Given the description of an element on the screen output the (x, y) to click on. 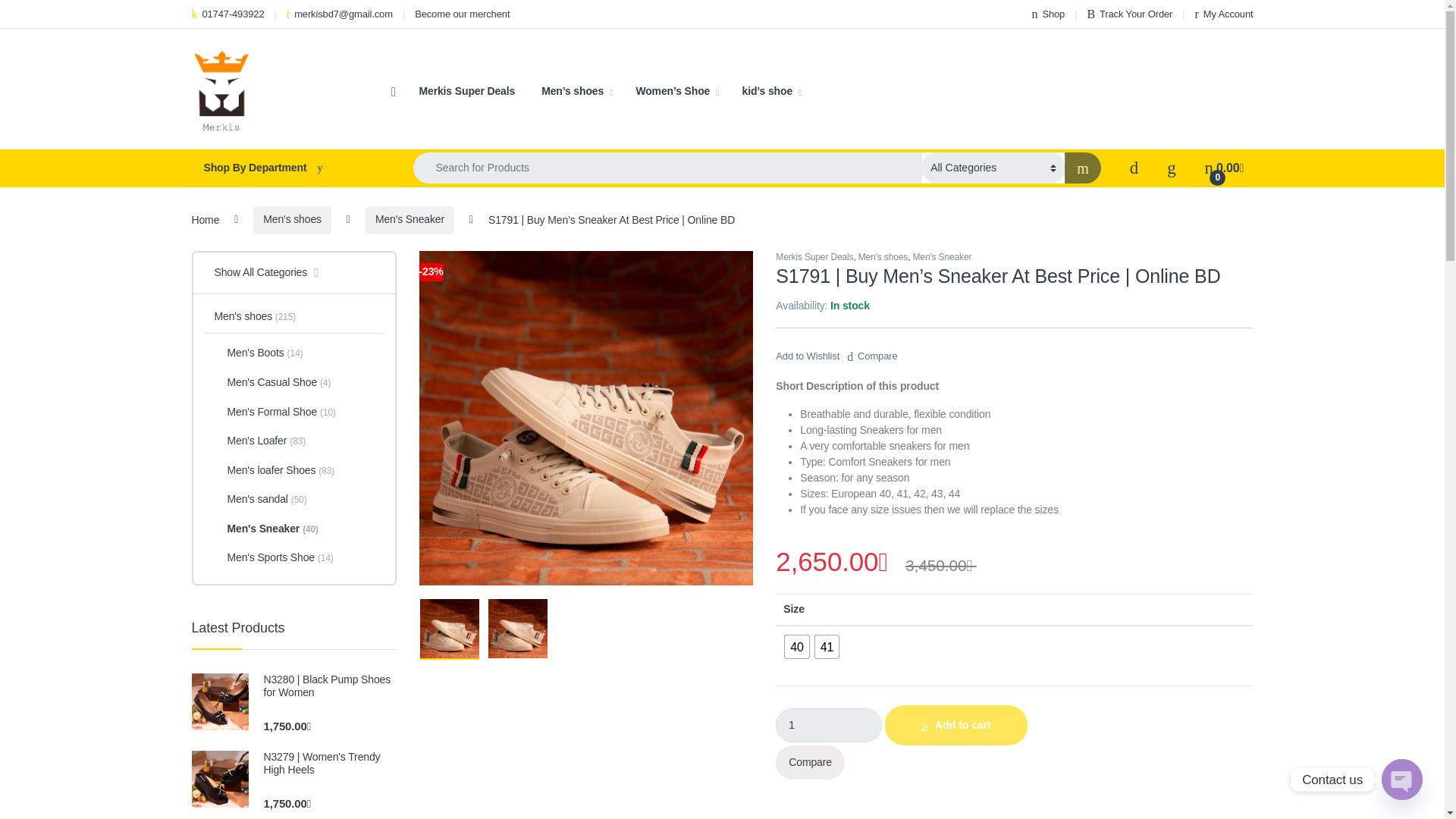
01747-493922 (226, 13)
Shop (1047, 13)
01747-493922 (226, 13)
Track Your Order (1129, 13)
Become our merchent (461, 13)
Become our merchent (461, 13)
My Account (1224, 13)
Shop (1047, 13)
Track Your Order (1129, 13)
My Account (1224, 13)
1 (829, 725)
